Given the description of an element on the screen output the (x, y) to click on. 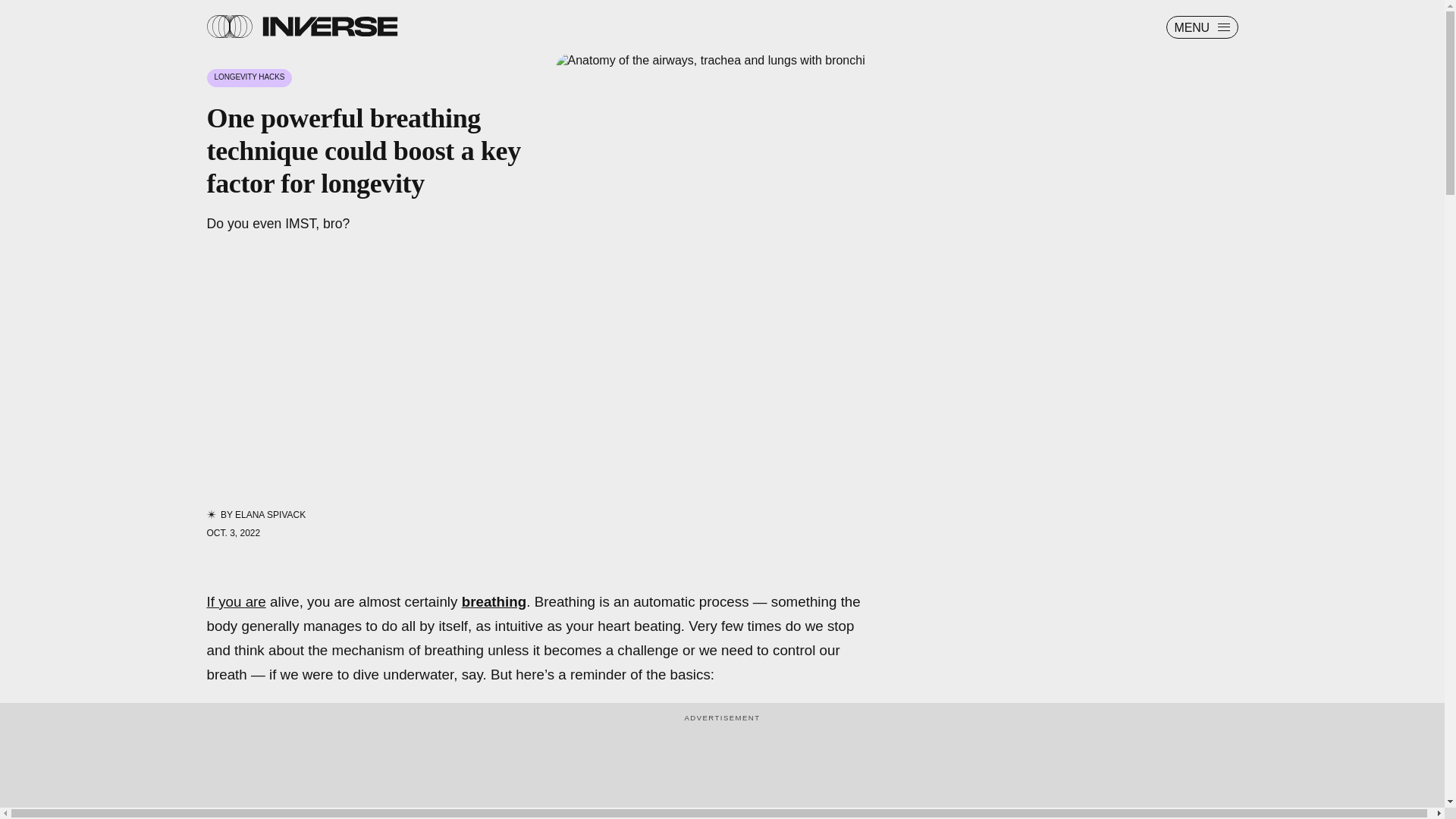
breathing (494, 601)
Inverse (328, 26)
ELANA SPIVACK (269, 514)
